Given the description of an element on the screen output the (x, y) to click on. 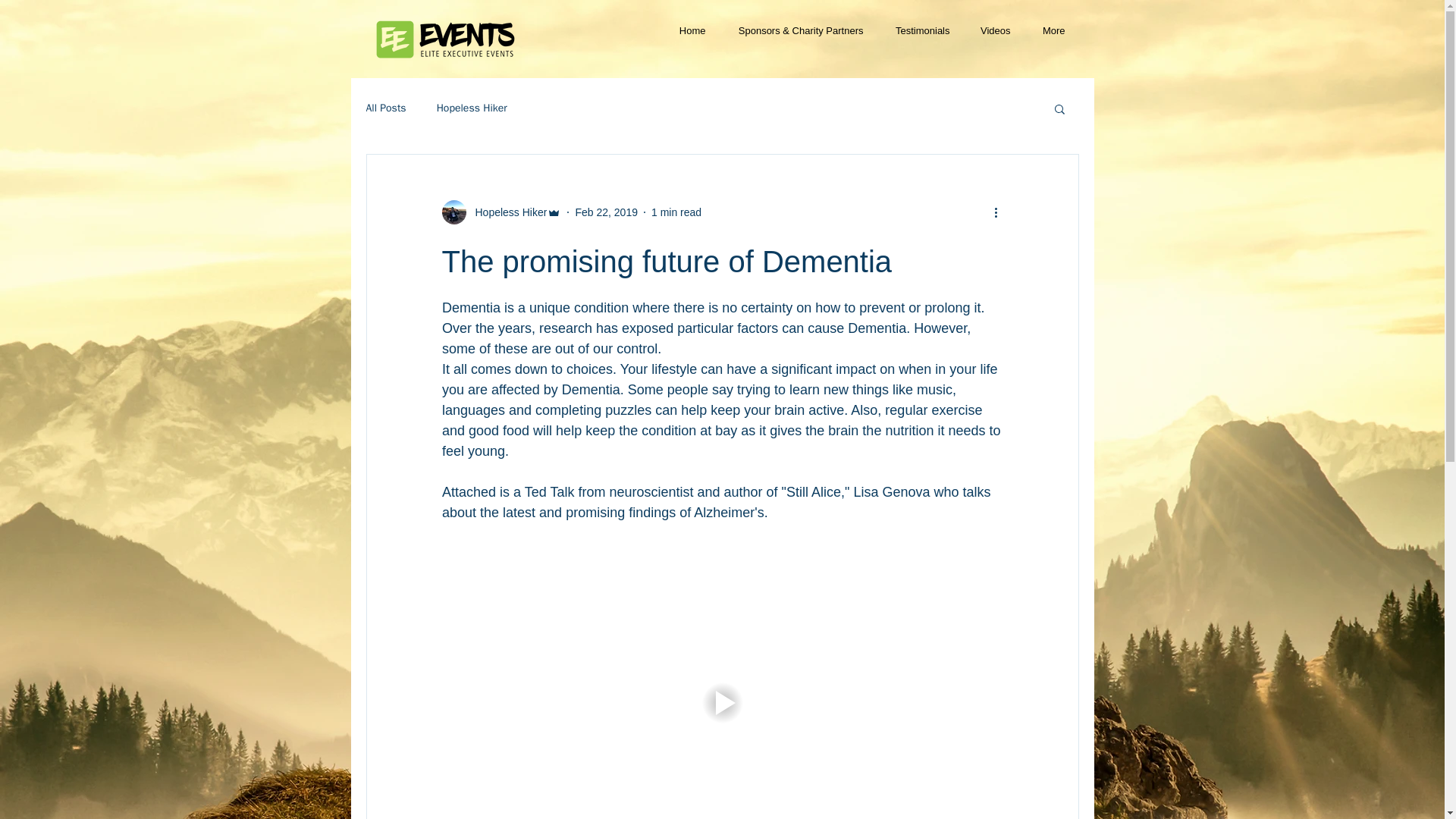
Hopeless Hiker (506, 212)
Home (691, 30)
All Posts (385, 108)
1 min read (675, 212)
Hopeless Hiker (471, 108)
Feb 22, 2019 (606, 212)
Videos (994, 30)
Testimonials (920, 30)
